Given the description of an element on the screen output the (x, y) to click on. 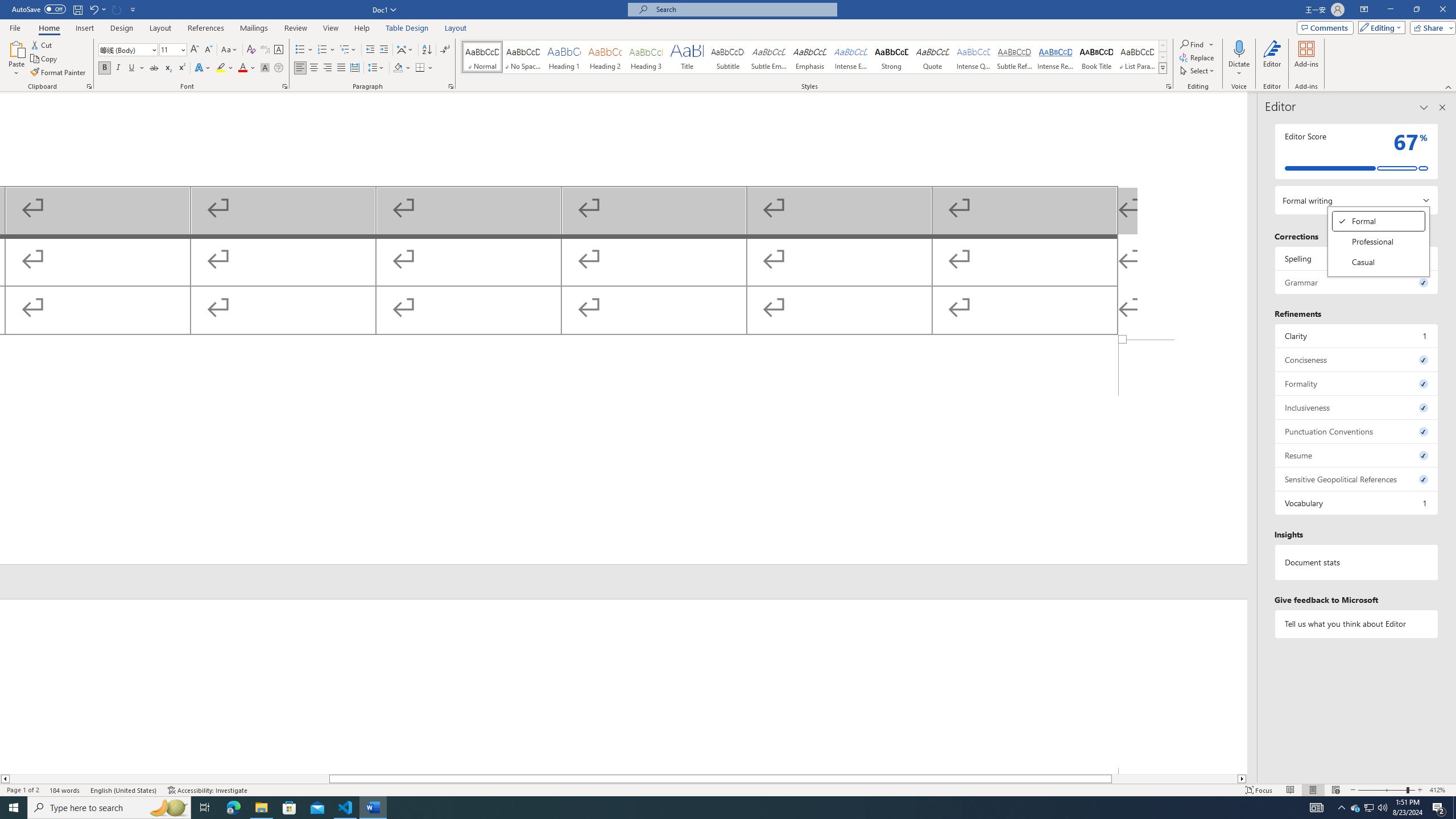
Can't Repeat (117, 9)
Word - 1 running window (373, 807)
Subtitle (727, 56)
Subtle Emphasis (768, 56)
